Given the description of an element on the screen output the (x, y) to click on. 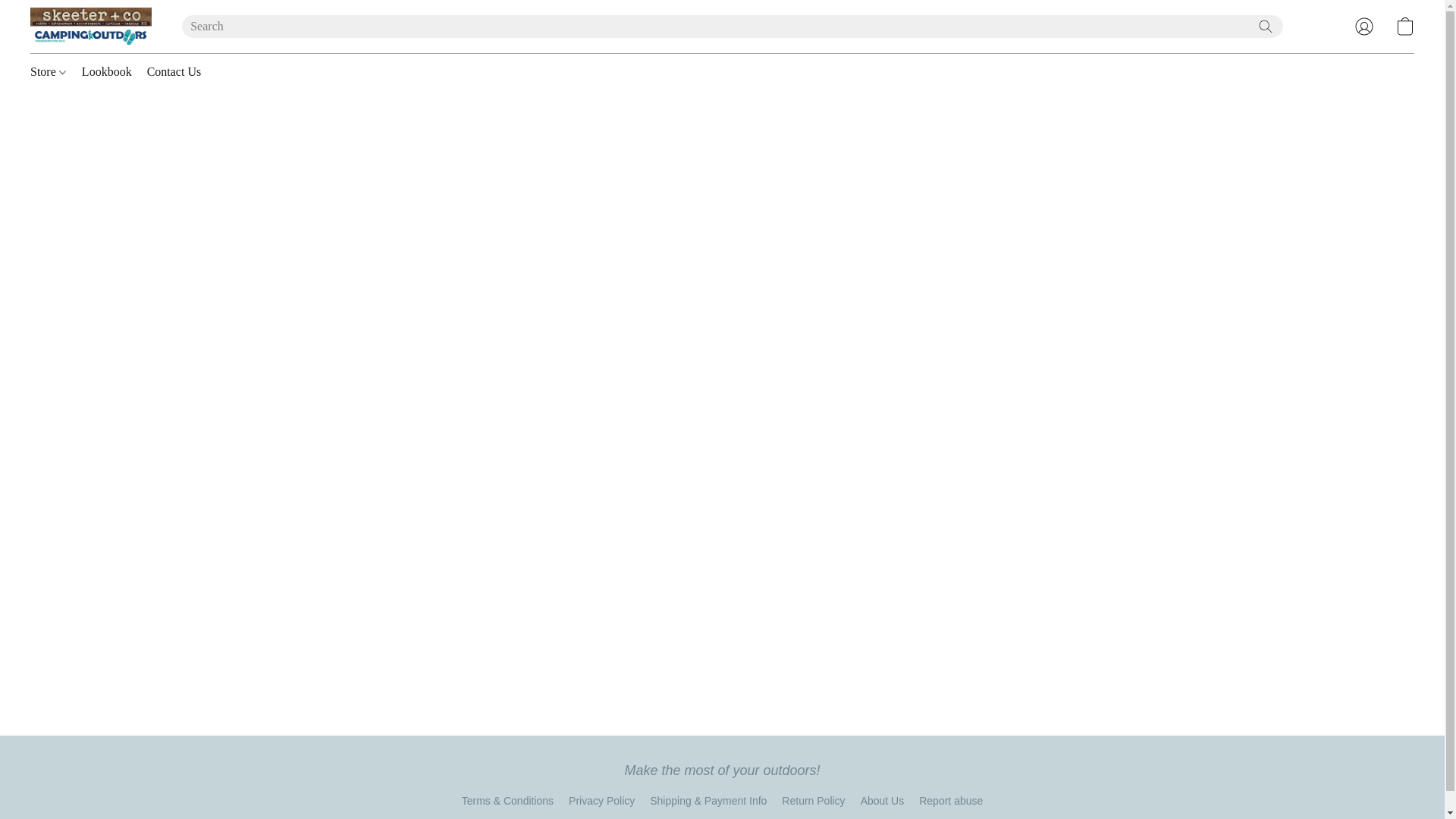
Return Policy (812, 800)
About Us (882, 800)
Privacy Policy (601, 800)
Report abuse (950, 800)
Store (52, 71)
Go to your shopping cart (1404, 26)
Lookbook (106, 71)
Contact Us (170, 71)
